Given the description of an element on the screen output the (x, y) to click on. 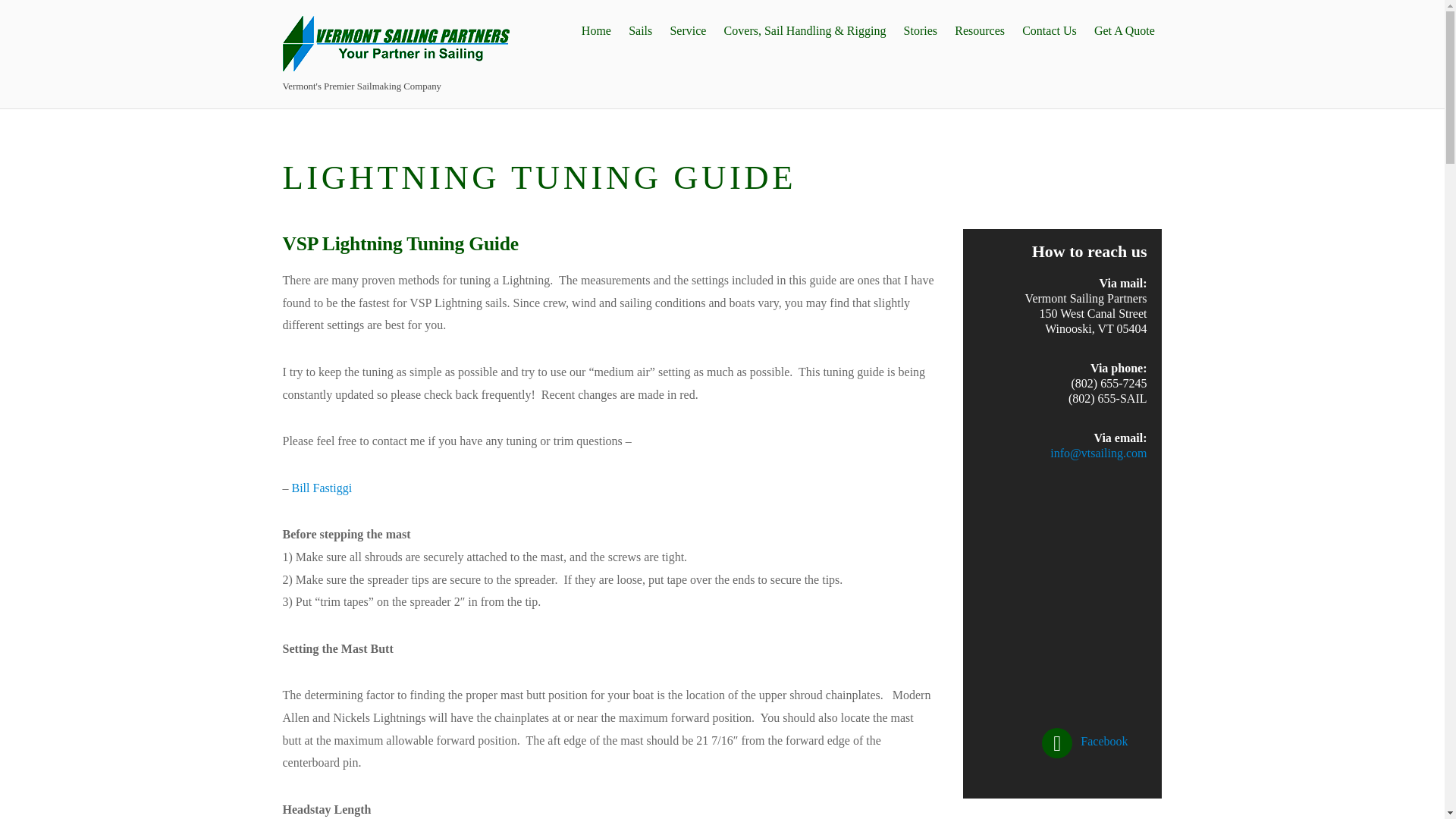
Home (595, 30)
Service (687, 30)
Vermont Sailing Partners (395, 43)
Resources (979, 30)
Stories (920, 30)
Vermont Sailing Partners (395, 63)
Sails (640, 30)
